Given the description of an element on the screen output the (x, y) to click on. 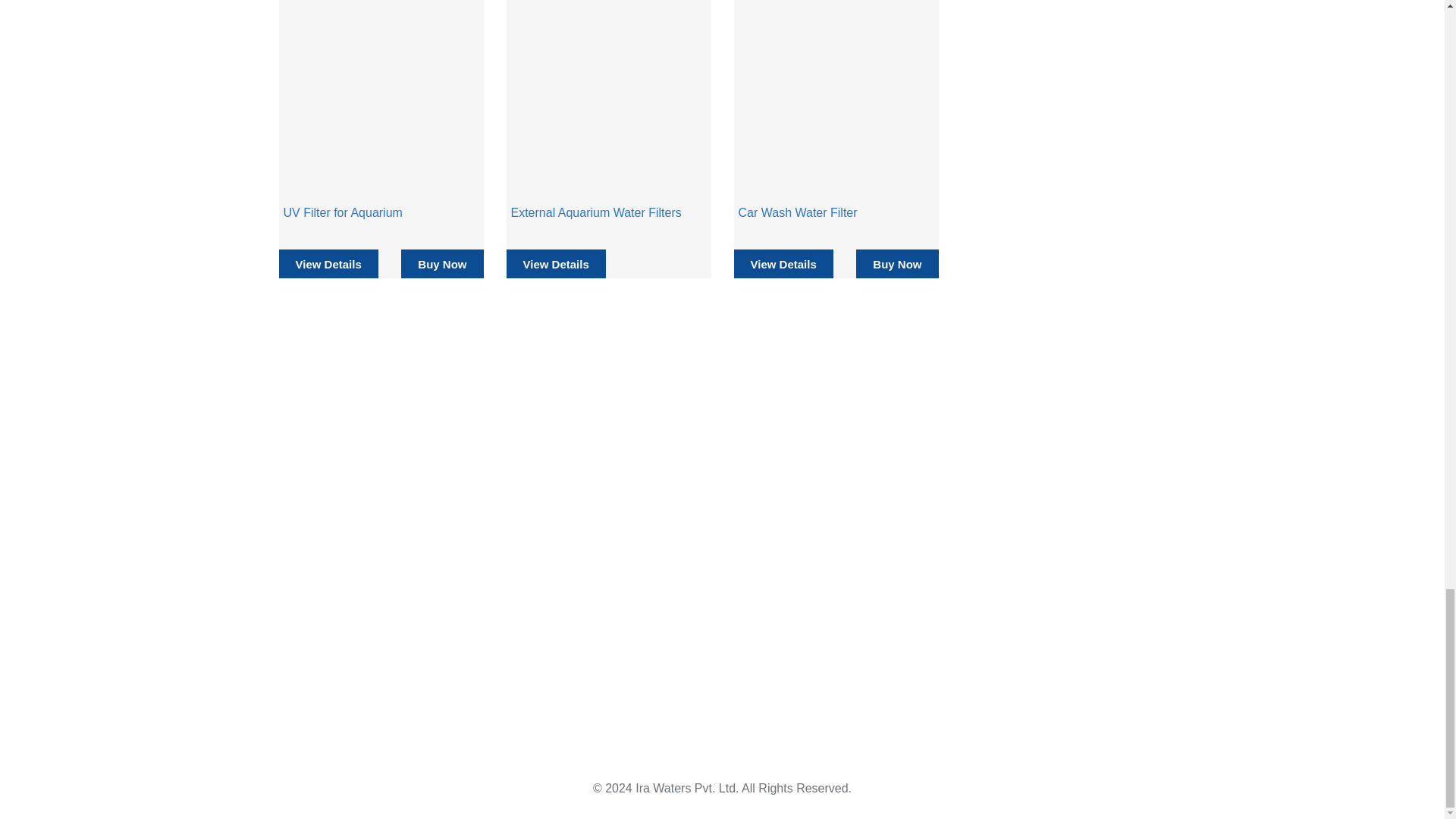
Buy Now (442, 263)
View Details (555, 263)
Buy Now (896, 263)
View Details (328, 263)
View Details (782, 263)
